Given the description of an element on the screen output the (x, y) to click on. 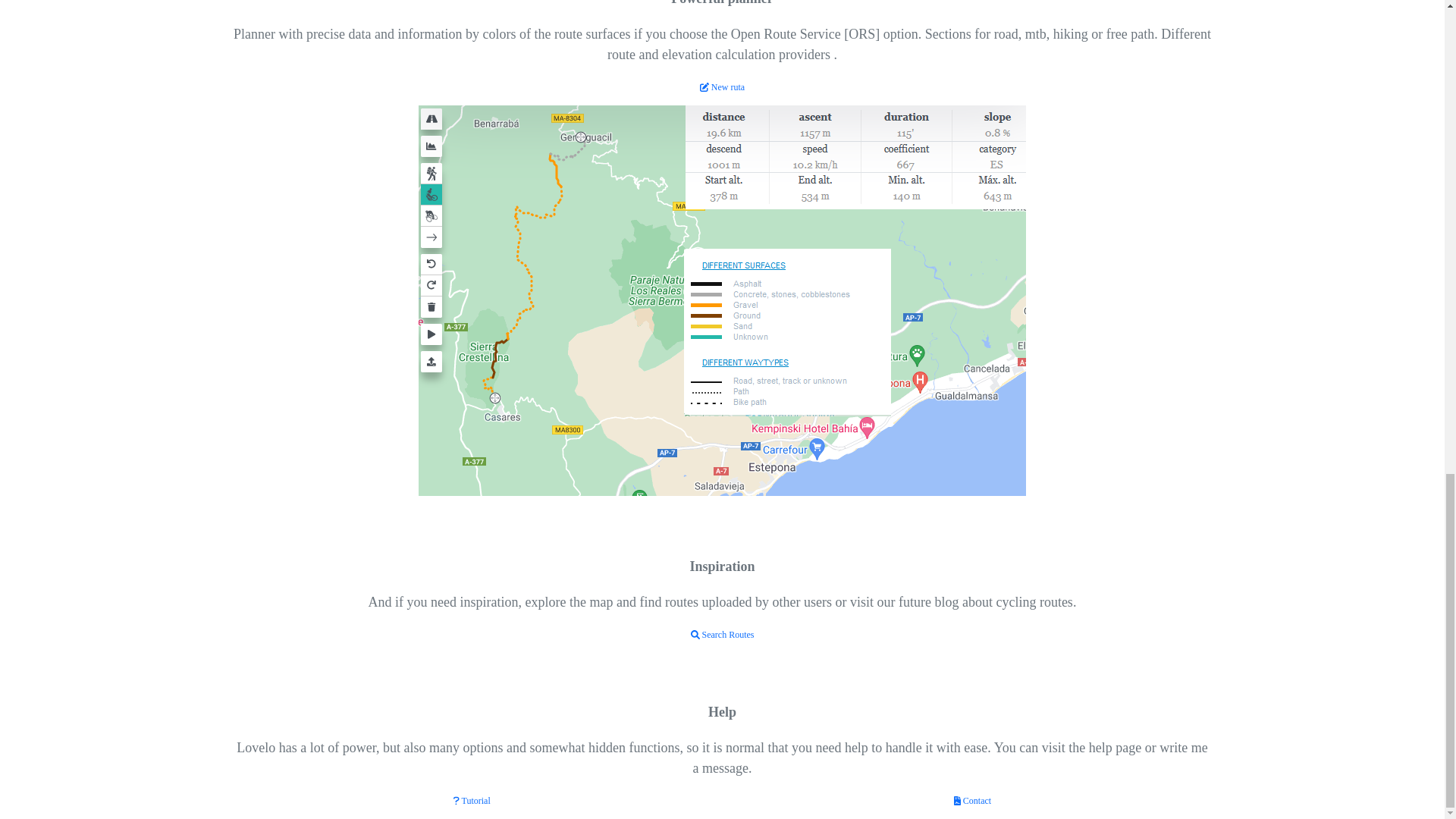
New ruta (722, 86)
Contact (972, 800)
Search Routes (722, 634)
Tutorial (471, 800)
